Given the description of an element on the screen output the (x, y) to click on. 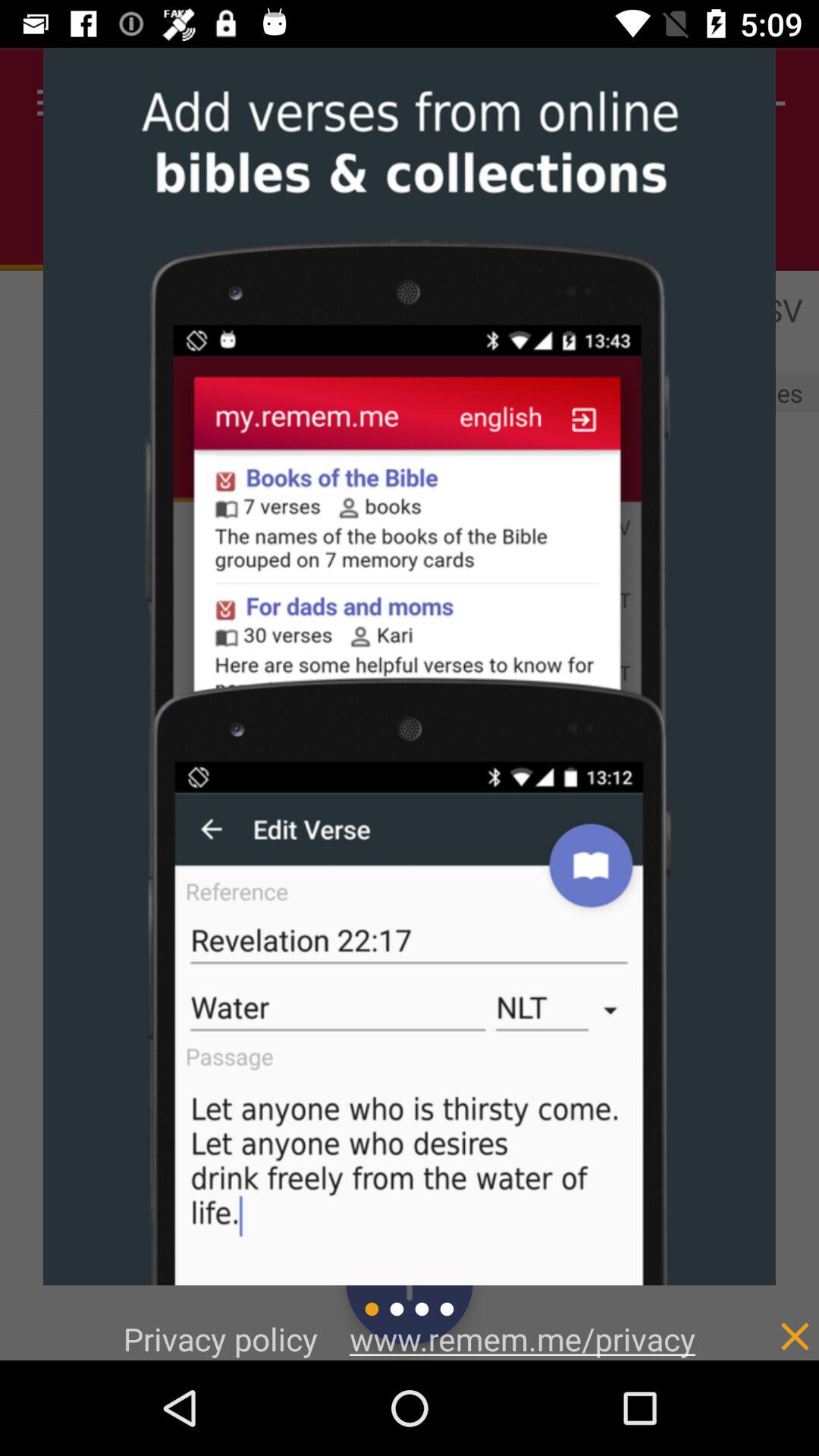
click the icon next to the privacy policy item (522, 1338)
